Given the description of an element on the screen output the (x, y) to click on. 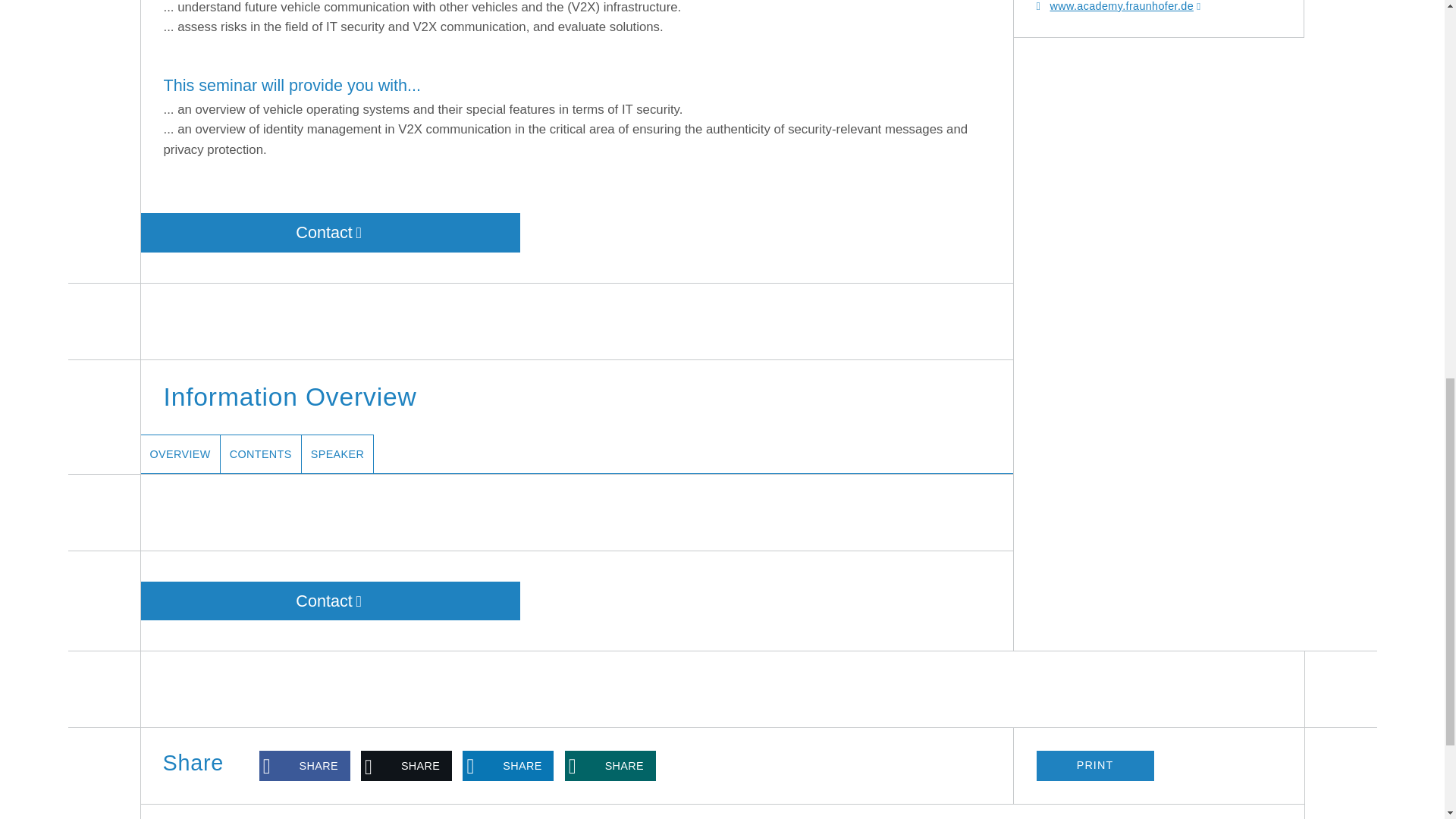
Share on Facebook (304, 766)
Share on X (406, 766)
Overview (180, 454)
Contents (261, 454)
Share on XING (610, 766)
Share on LinkedIn (508, 766)
Speaker (337, 454)
